Given the description of an element on the screen output the (x, y) to click on. 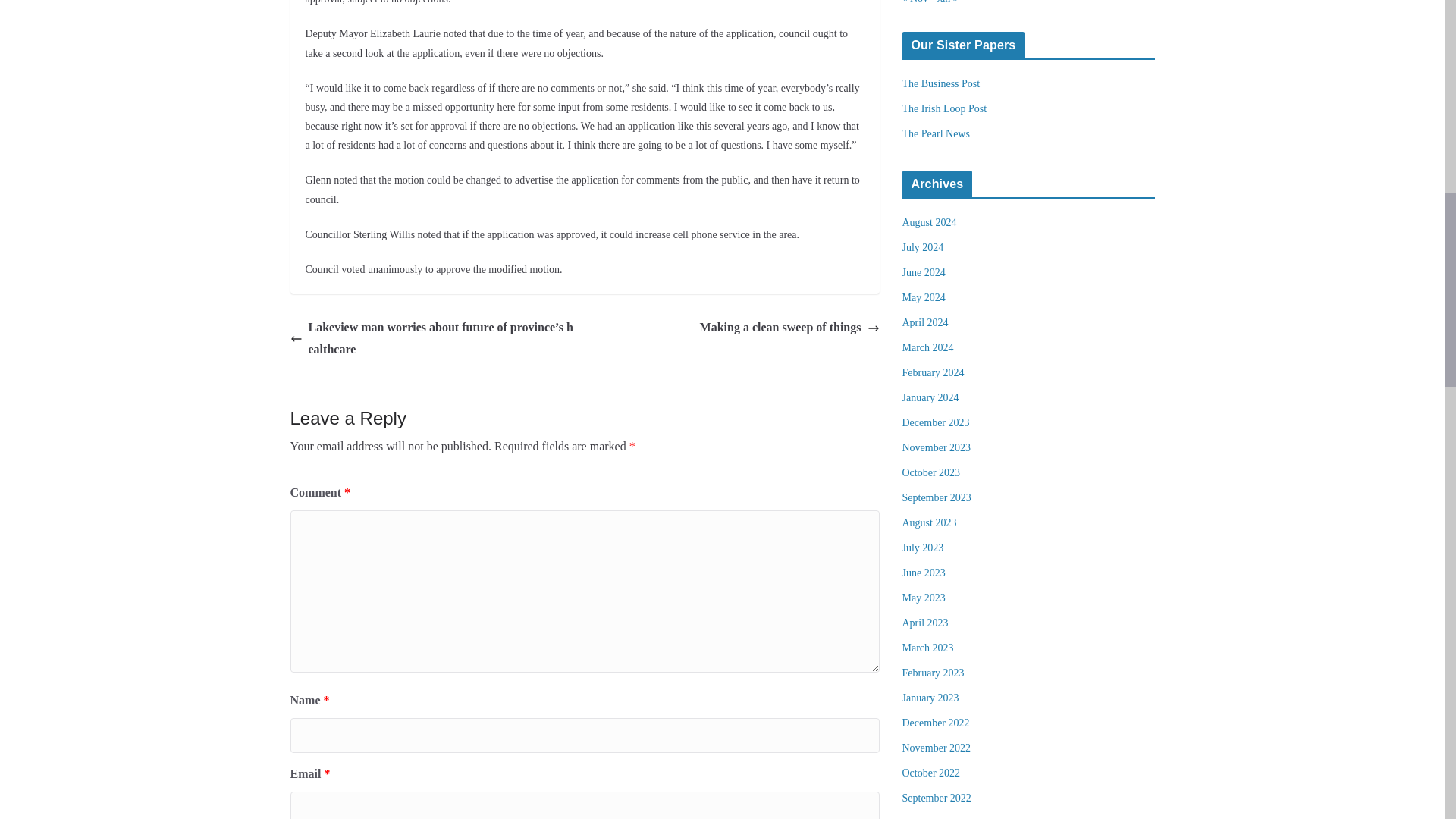
July 2024 (922, 247)
The Pearl News (935, 133)
April 2024 (925, 322)
June 2024 (923, 272)
The Business Post (940, 83)
The Irish Loop Post (944, 108)
Making a clean sweep of things (789, 327)
May 2024 (923, 297)
March 2024 (927, 347)
August 2024 (929, 222)
